Given the description of an element on the screen output the (x, y) to click on. 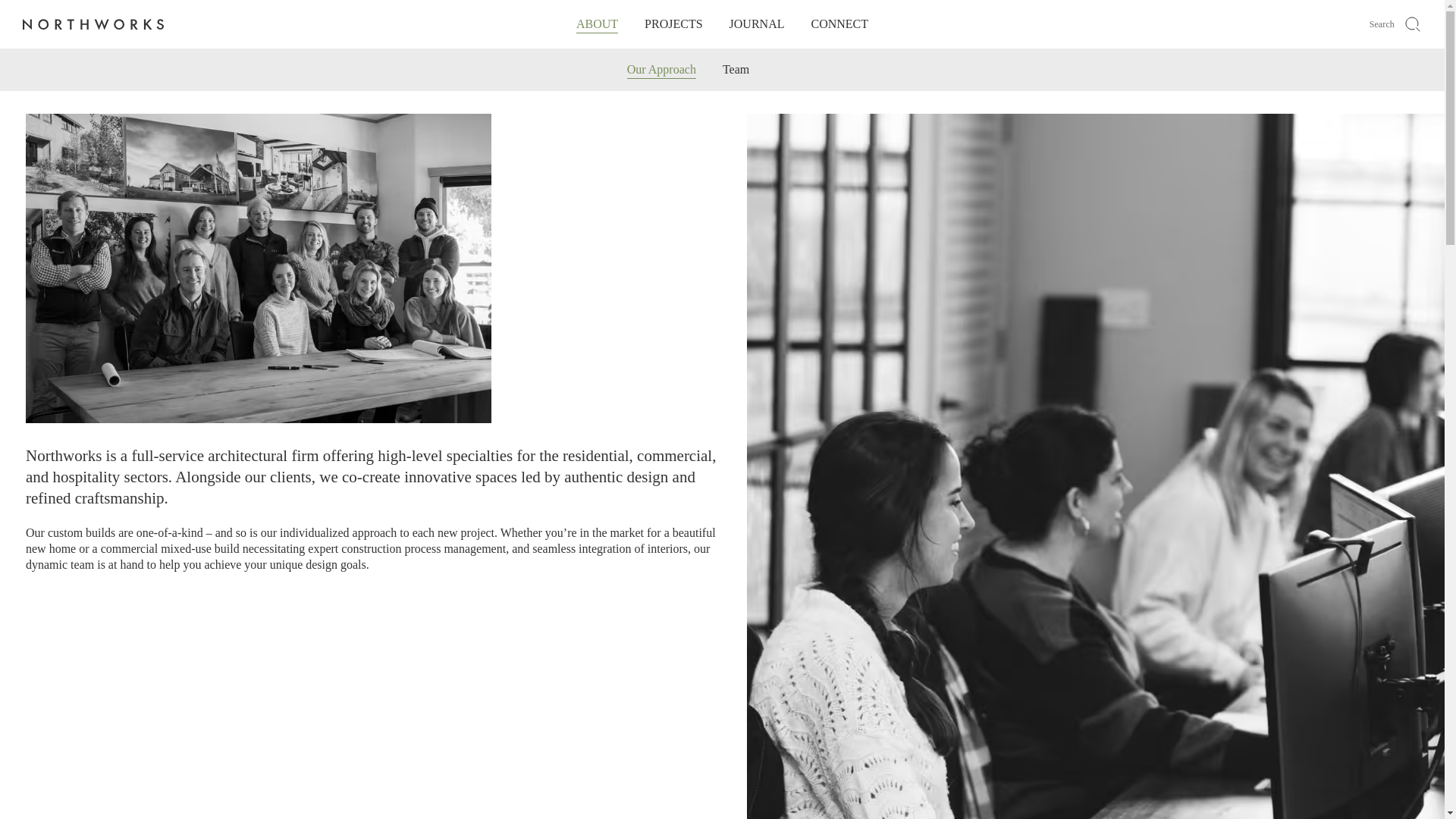
Our Approach (661, 69)
ABOUT (596, 23)
PROJECTS (673, 23)
CONNECT (838, 23)
JOURNAL (756, 23)
Team (735, 69)
